Given the description of an element on the screen output the (x, y) to click on. 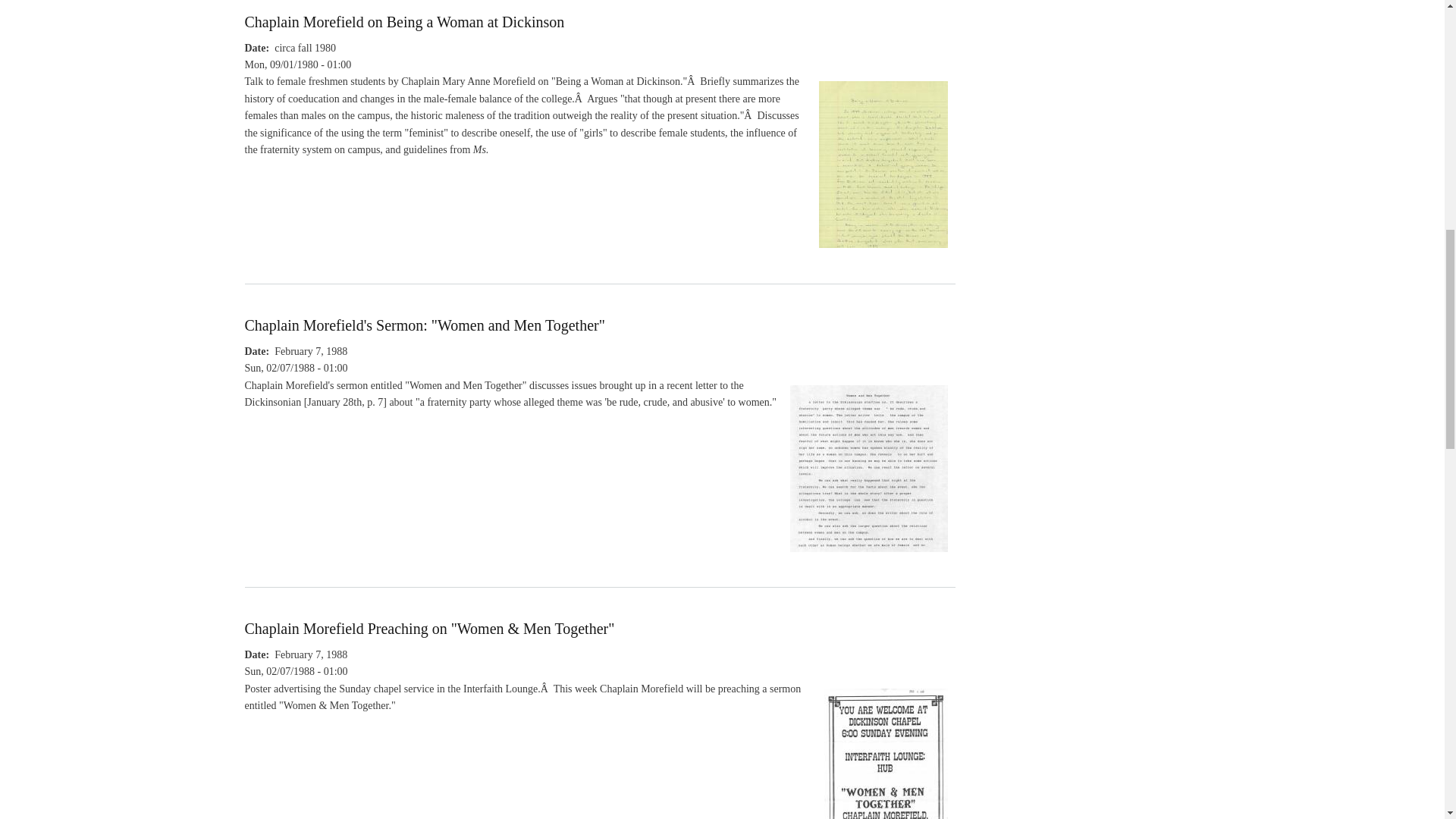
Chaplain Morefield on Being a Woman at Dickinson (882, 255)
Chaplain Morefield on Being a Woman at Dickinson (404, 21)
Chaplain Morefield's Sermon: "Women and Men Together" (868, 559)
Chaplain Morefield's Sermon: "Women and Men Together" (424, 324)
